Given the description of an element on the screen output the (x, y) to click on. 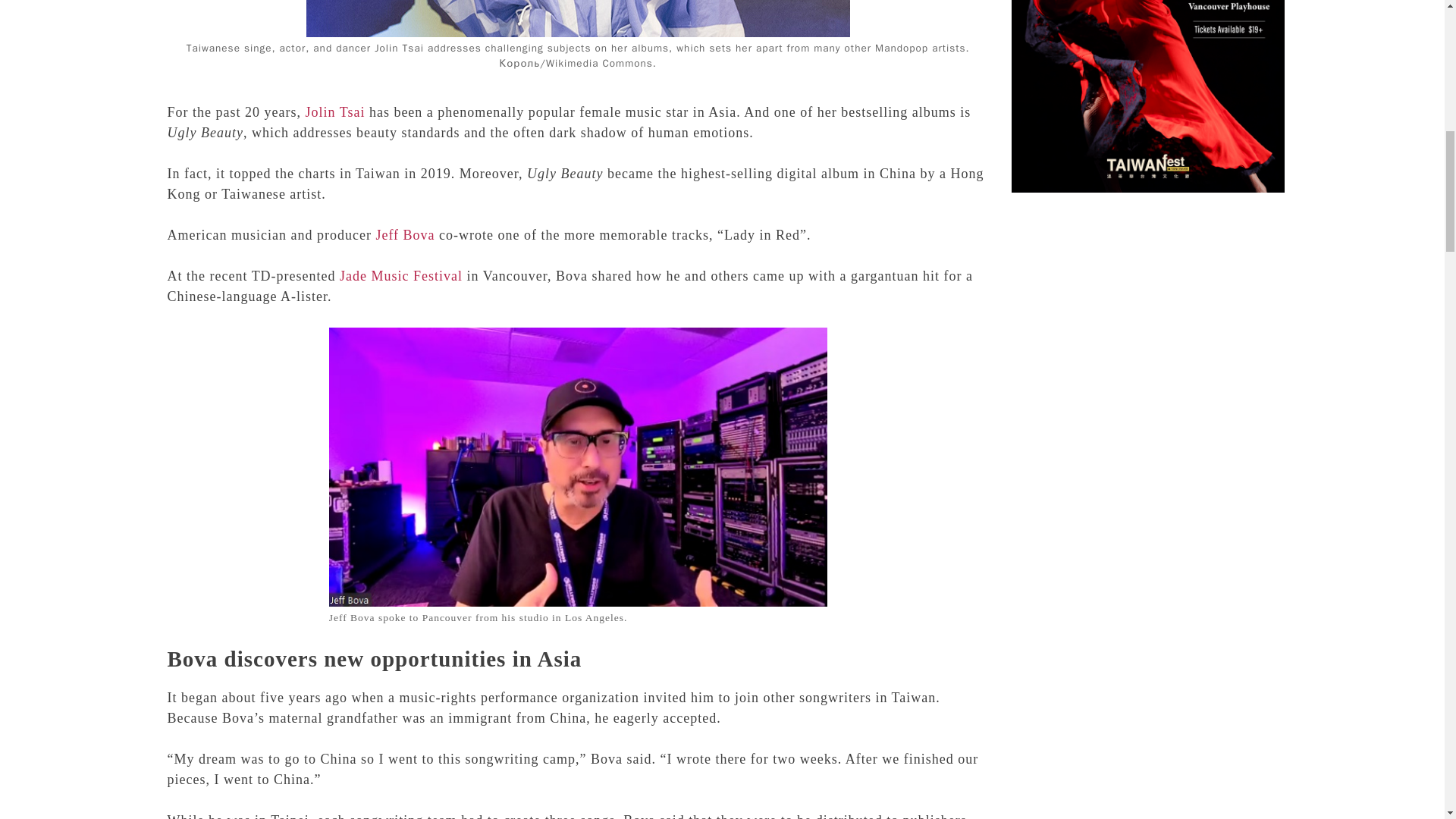
Jade Music Festival (401, 275)
Jeff Bova (404, 234)
Jolin Tsai (334, 111)
